Given the description of an element on the screen output the (x, y) to click on. 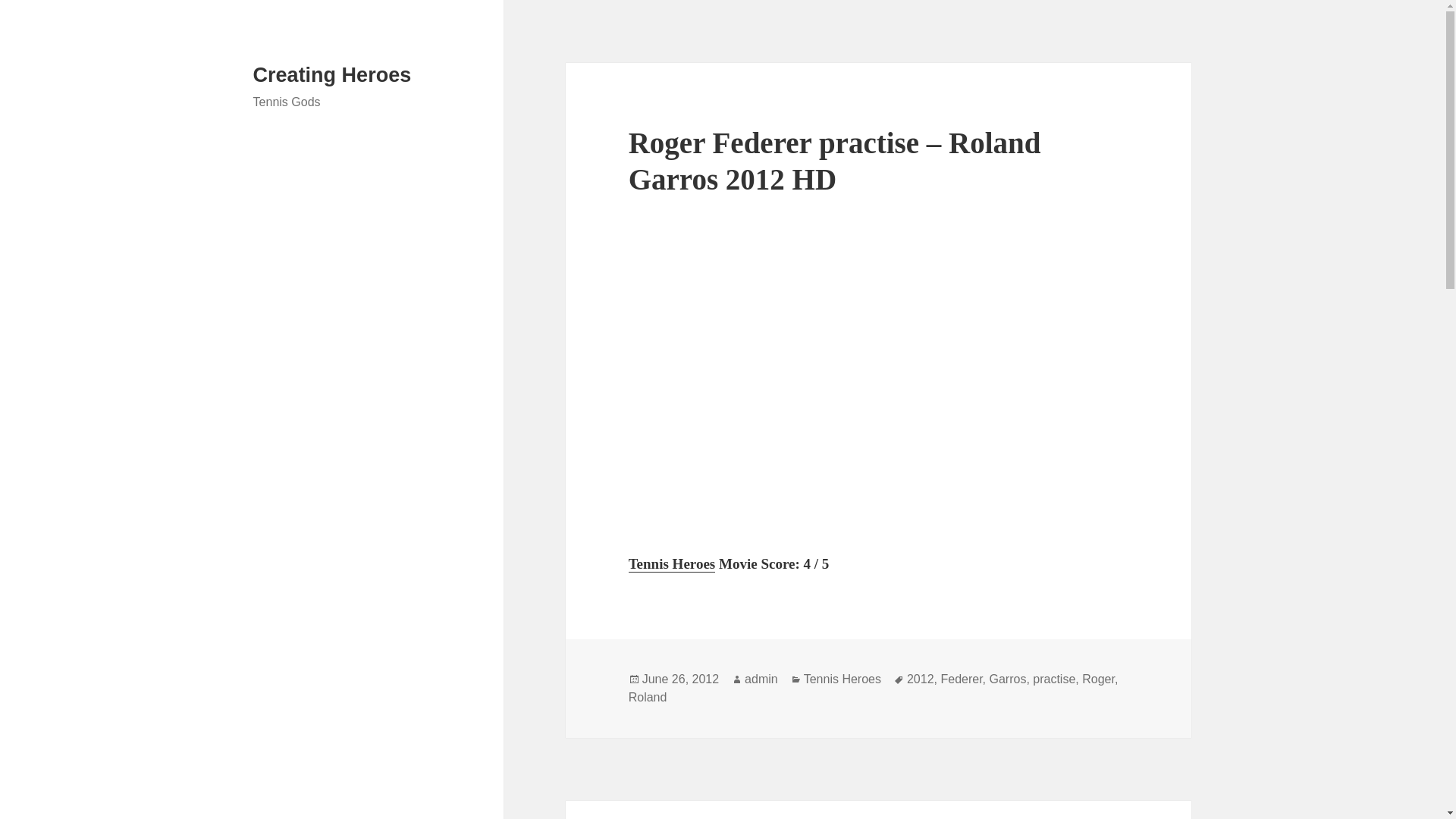
Garros (1007, 679)
June 26, 2012 (680, 679)
admin (760, 679)
practise (1053, 679)
Tennis Heroes (672, 564)
2012 (920, 679)
Roland (647, 697)
Tennis Heroes (841, 679)
Roger (1098, 679)
Federer (960, 679)
Creating Heroes (332, 74)
